Given the description of an element on the screen output the (x, y) to click on. 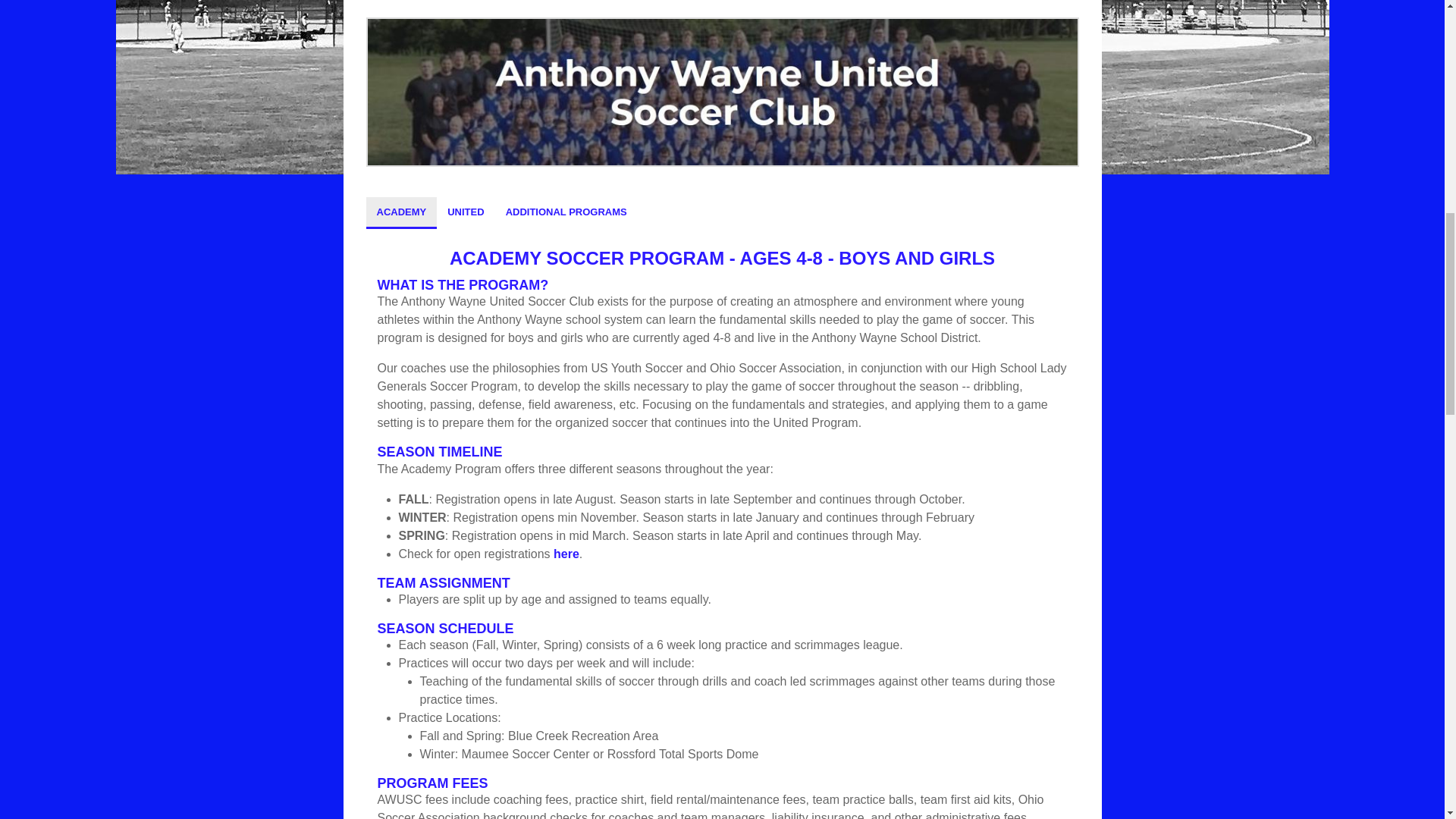
ACADEMY (400, 212)
ADDITIONAL PROGRAMS (566, 212)
UNITED (465, 212)
here (566, 553)
